Given the description of an element on the screen output the (x, y) to click on. 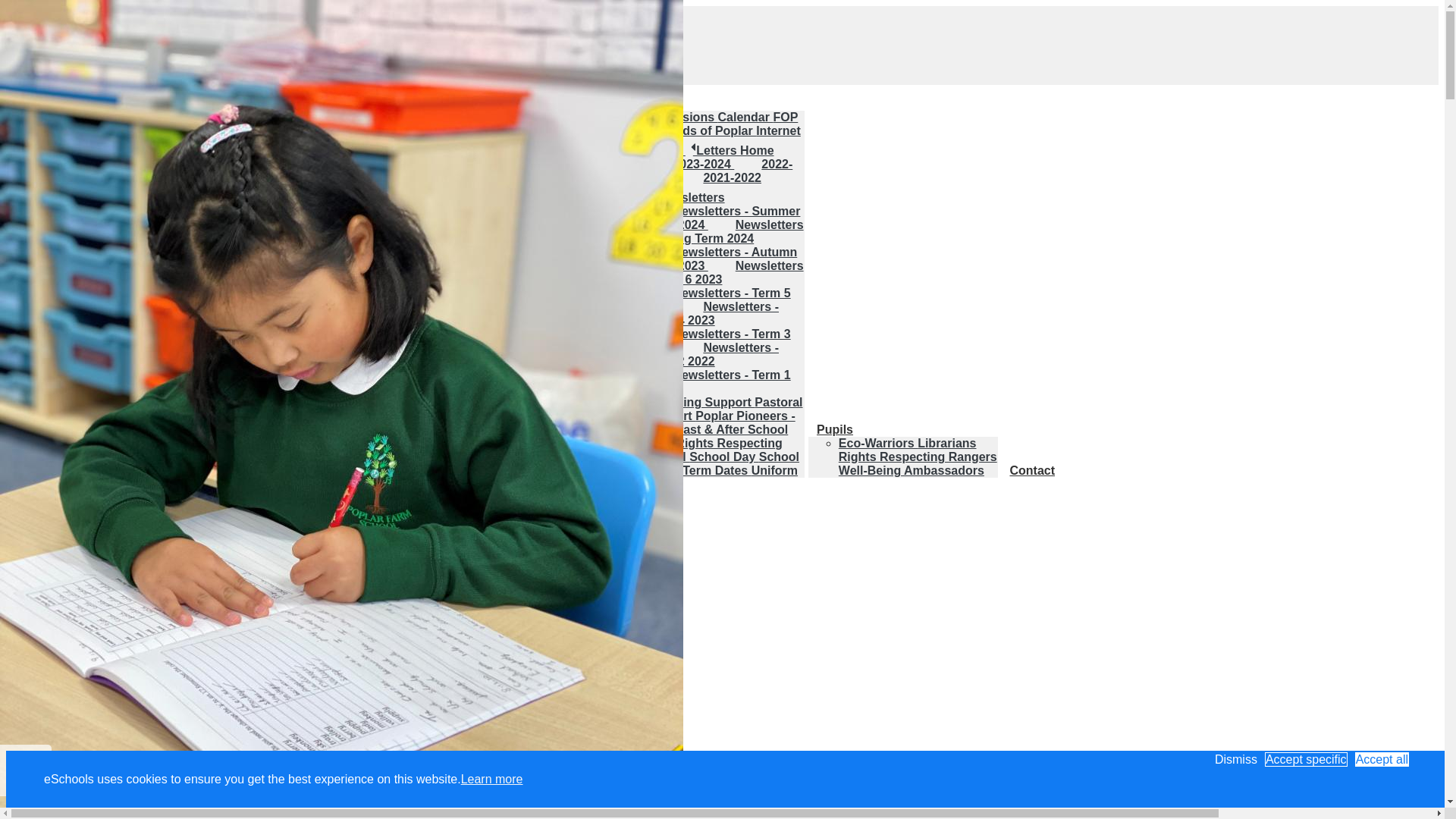
Meet the Staff (107, 212)
Local School Board (145, 222)
About us (71, 185)
British Values (321, 374)
Recruitment (115, 259)
Music (317, 415)
Phonics (284, 442)
Welcome (94, 198)
September 2024 Teacher Information (126, 436)
Never expand (43, 19)
Whole School Curriculum (333, 360)
Maths (278, 415)
Computing and E-Safety (329, 388)
September 2024 Reception Intake (126, 463)
English (282, 401)
